Given the description of an element on the screen output the (x, y) to click on. 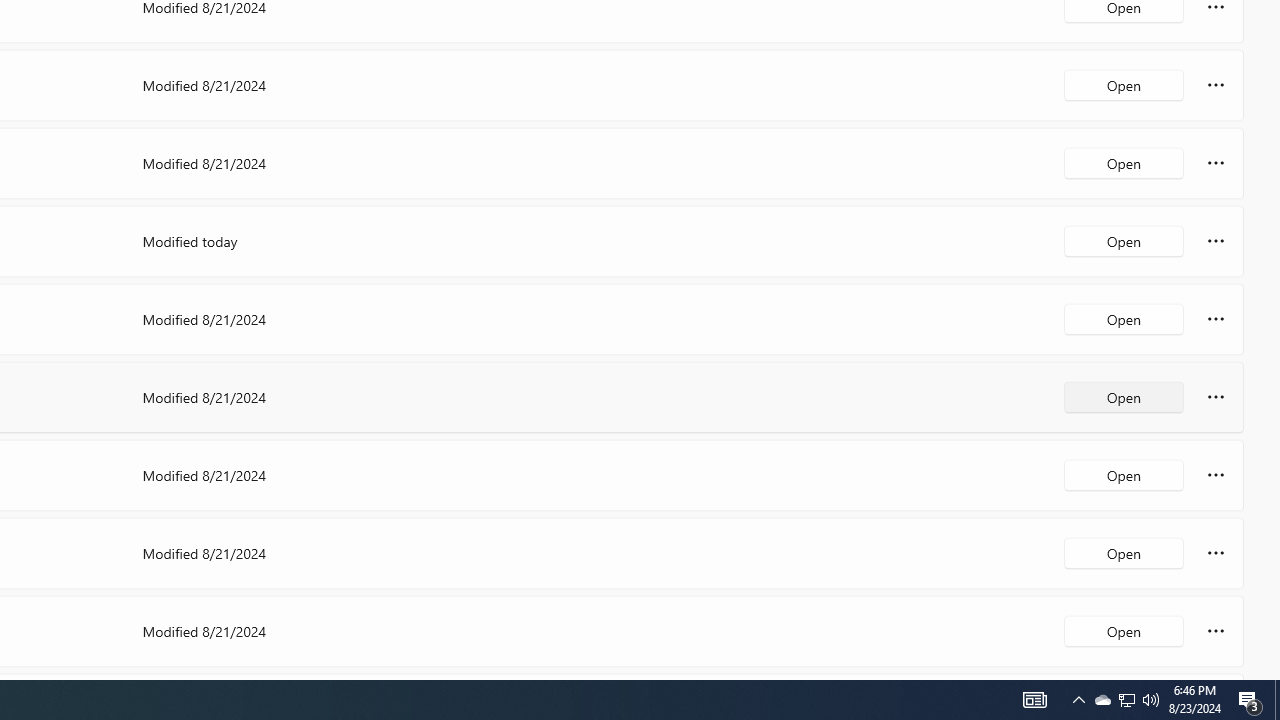
More options (1215, 630)
Vertical Small Increase (1272, 672)
Open (1123, 630)
